Given the description of an element on the screen output the (x, y) to click on. 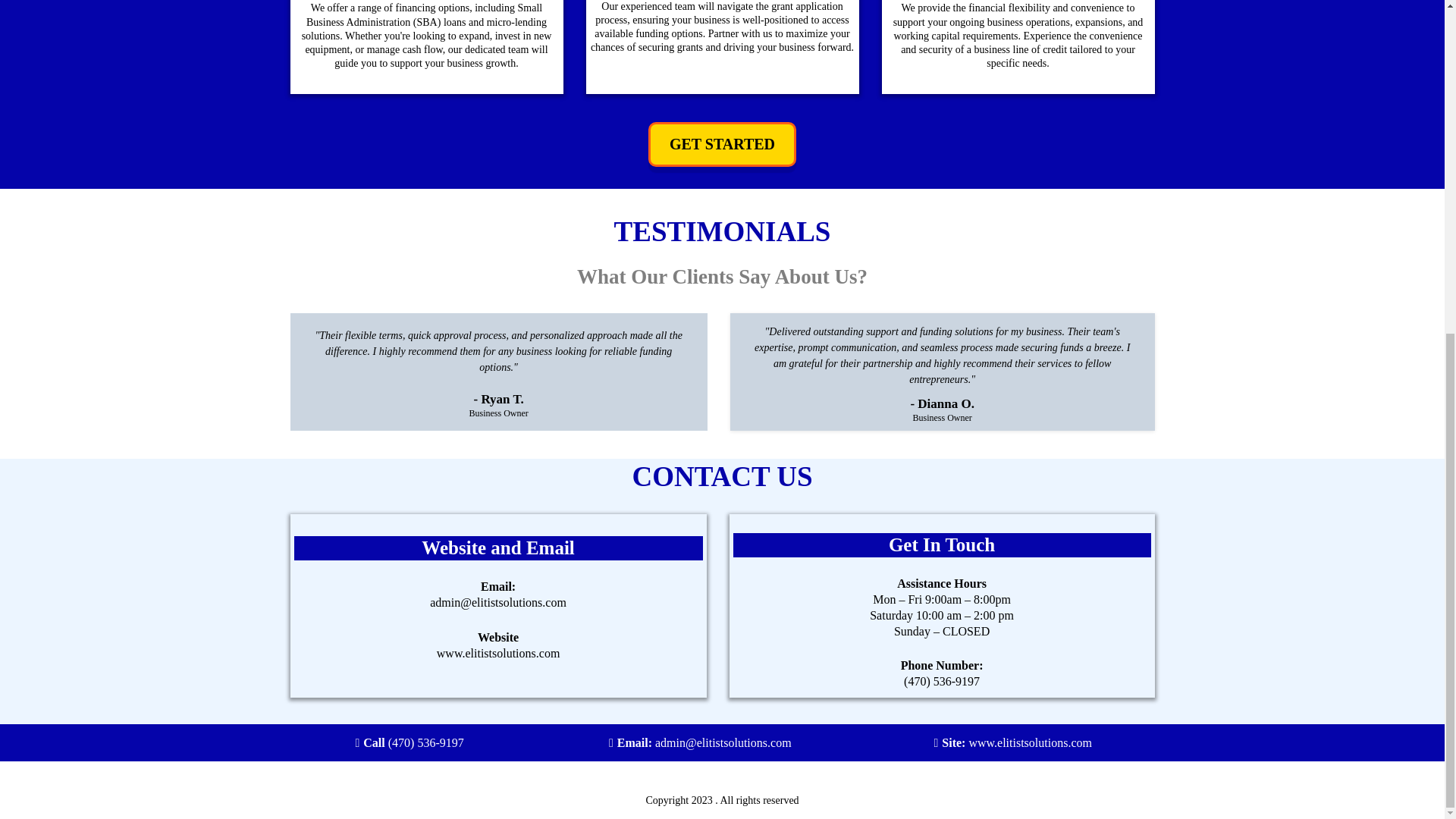
GET STARTED (721, 144)
TESTIMONIALS (722, 231)
